Given the description of an element on the screen output the (x, y) to click on. 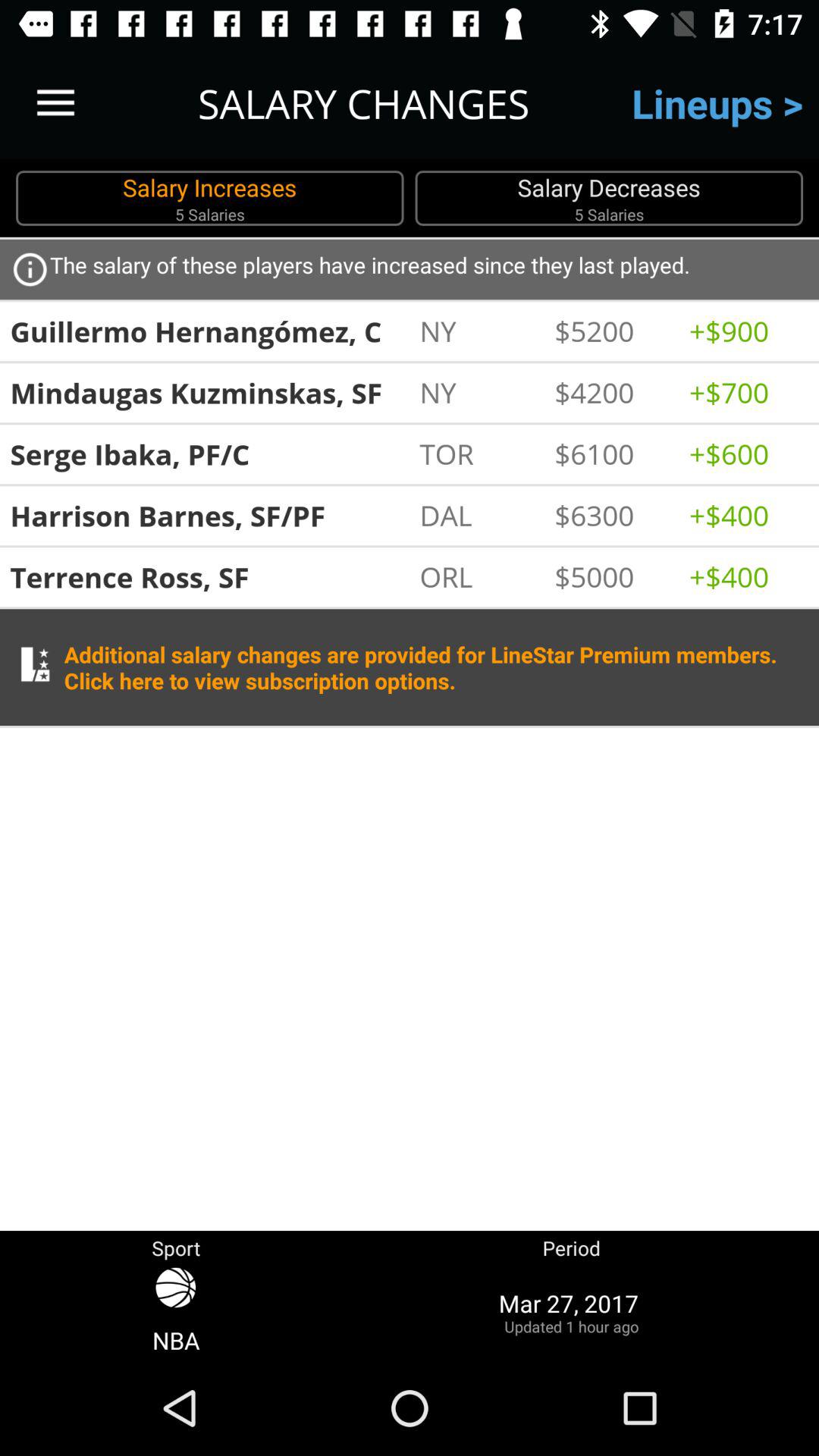
jump to the lineups > (717, 103)
